Given the description of an element on the screen output the (x, y) to click on. 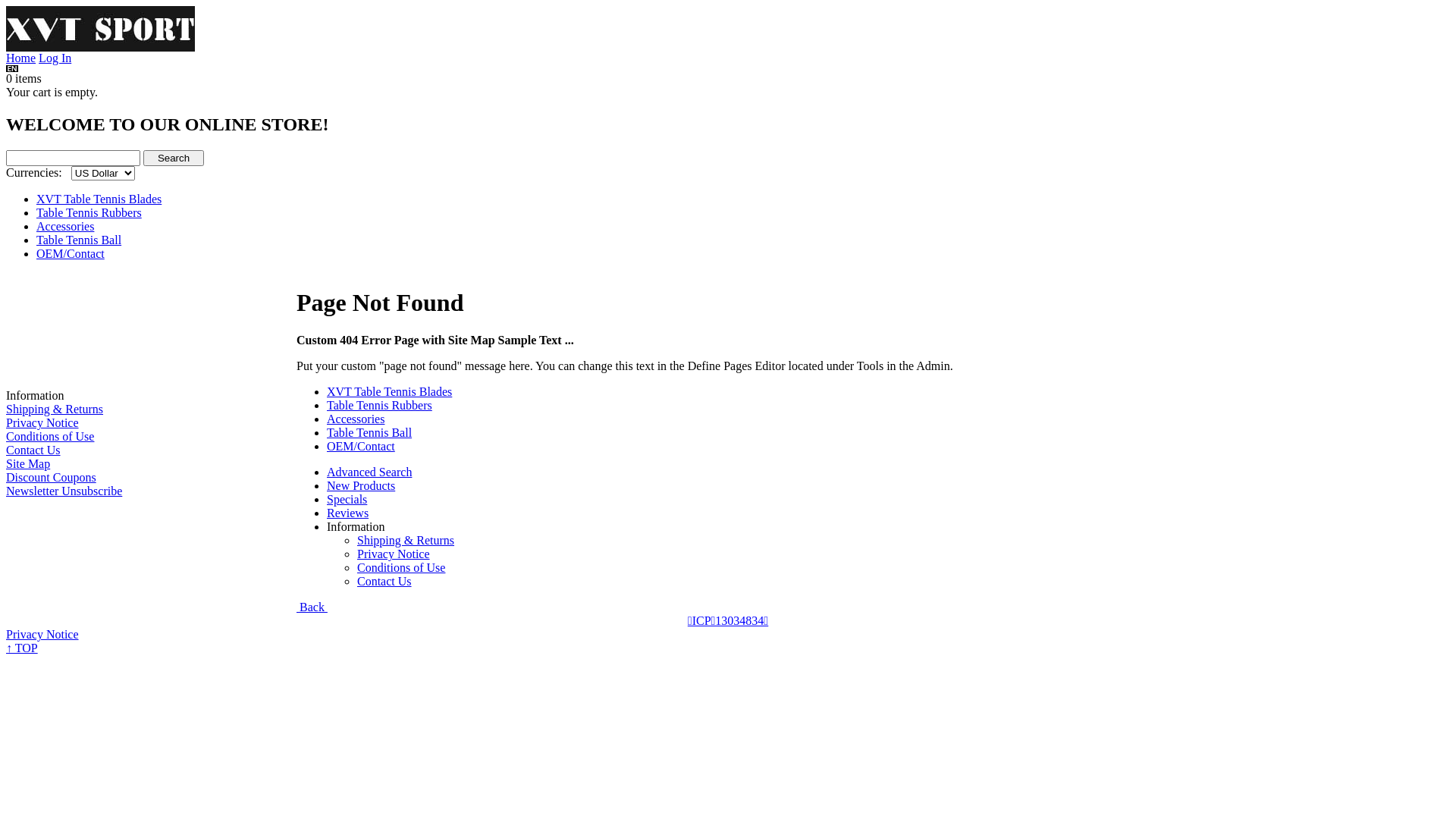
 Back  Element type: text (311, 606)
Reviews Element type: text (347, 512)
Accessories Element type: text (355, 418)
Shipping & Returns Element type: text (54, 408)
OEM/Contact Element type: text (70, 253)
Newsletter Unsubscribe Element type: text (64, 490)
OEM/Contact Element type: text (360, 445)
XVT Table Tennis Blades Element type: text (388, 391)
Privacy Notice Element type: text (42, 422)
Search Element type: text (173, 158)
Privacy Notice Element type: text (42, 633)
Specials Element type: text (346, 498)
New Products Element type: text (360, 485)
Table Tennis Ball Element type: text (368, 432)
Accessories Element type: text (65, 225)
Table Tennis Rubbers Element type: text (379, 404)
Home Element type: text (20, 57)
Contact Us Element type: text (33, 449)
XVT Table Tennis Blades Element type: text (98, 198)
Conditions of Use Element type: text (401, 567)
Contact Us Element type: text (384, 580)
Site Map Element type: text (28, 463)
Log In Element type: text (54, 57)
Table Tennis Ball Element type: text (78, 239)
Shipping & Returns Element type: text (405, 539)
Conditions of Use Element type: text (50, 435)
Advanced Search Element type: text (368, 471)
Table Tennis Rubbers Element type: text (88, 212)
Discount Coupons Element type: text (51, 476)
 English  Element type: hover (12, 68)
0 items Element type: text (23, 78)
Privacy Notice Element type: text (393, 553)
